Given the description of an element on the screen output the (x, y) to click on. 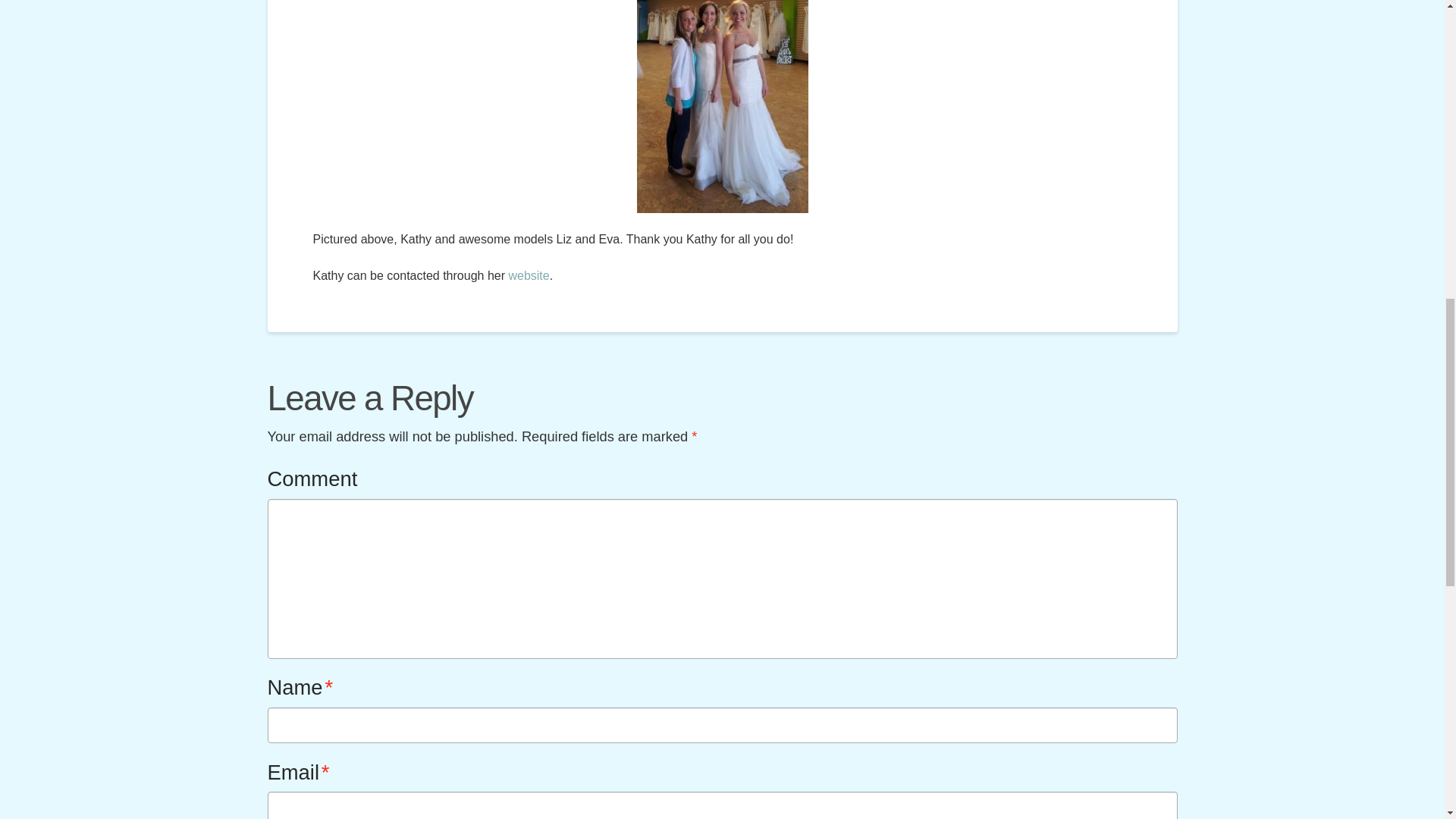
website (528, 275)
